Given the description of an element on the screen output the (x, y) to click on. 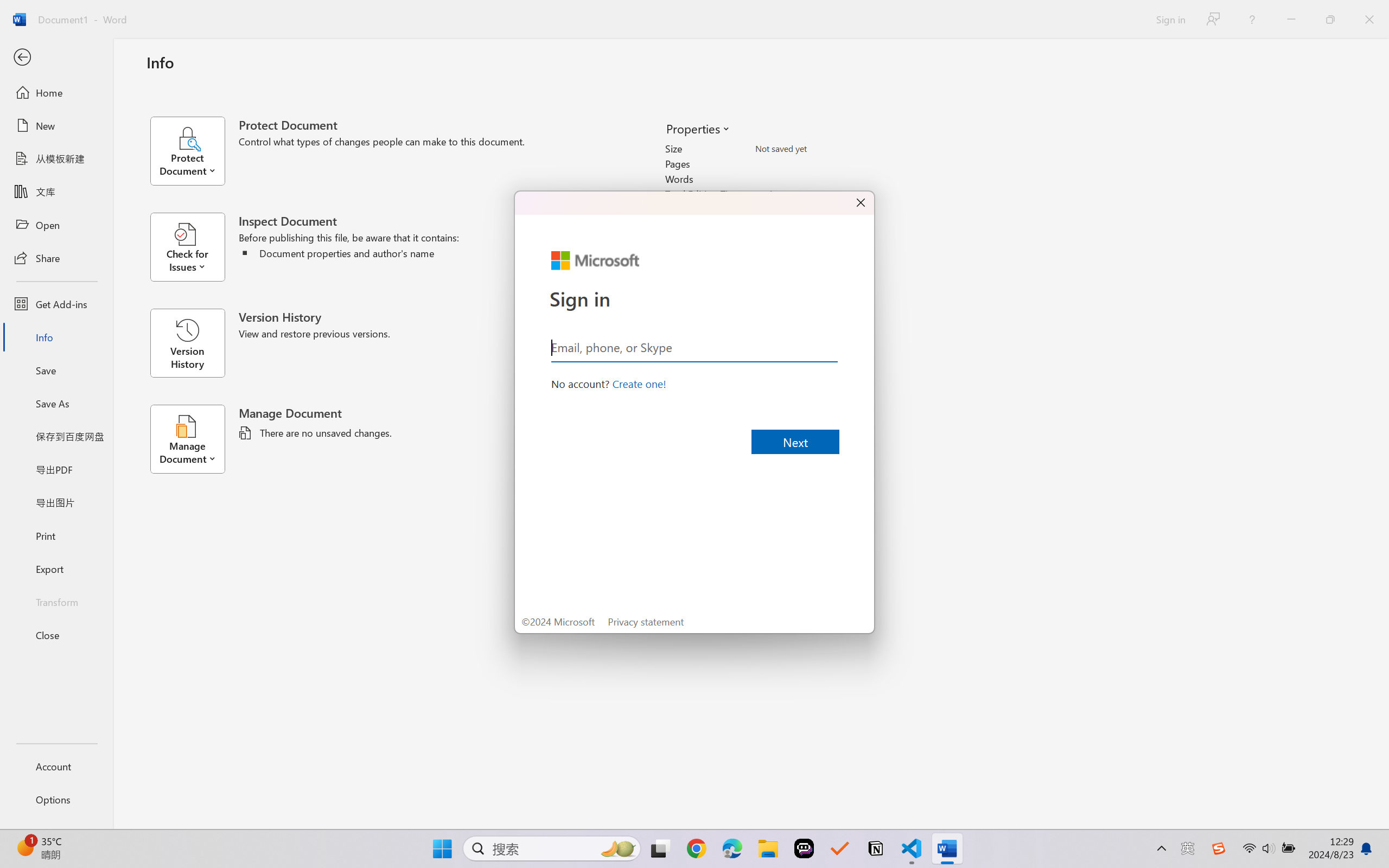
Manage Document (194, 438)
Back (56, 57)
Check for Issues (194, 246)
Export (56, 568)
Info (56, 337)
